Given the description of an element on the screen output the (x, y) to click on. 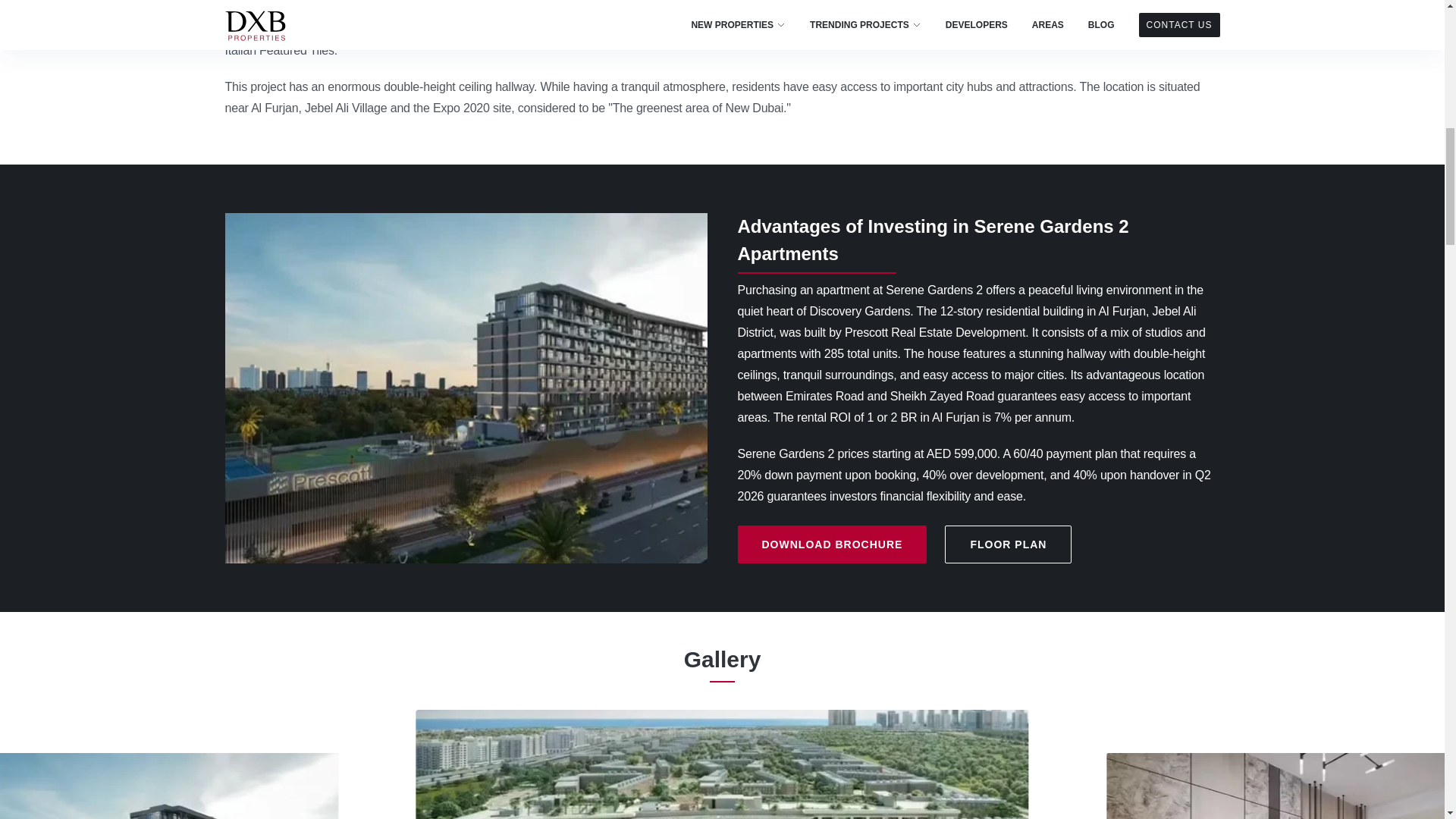
FLOOR PLAN (1007, 544)
DOWNLOAD BROCHURE (831, 544)
FLOOR PLAN (1007, 544)
